Given the description of an element on the screen output the (x, y) to click on. 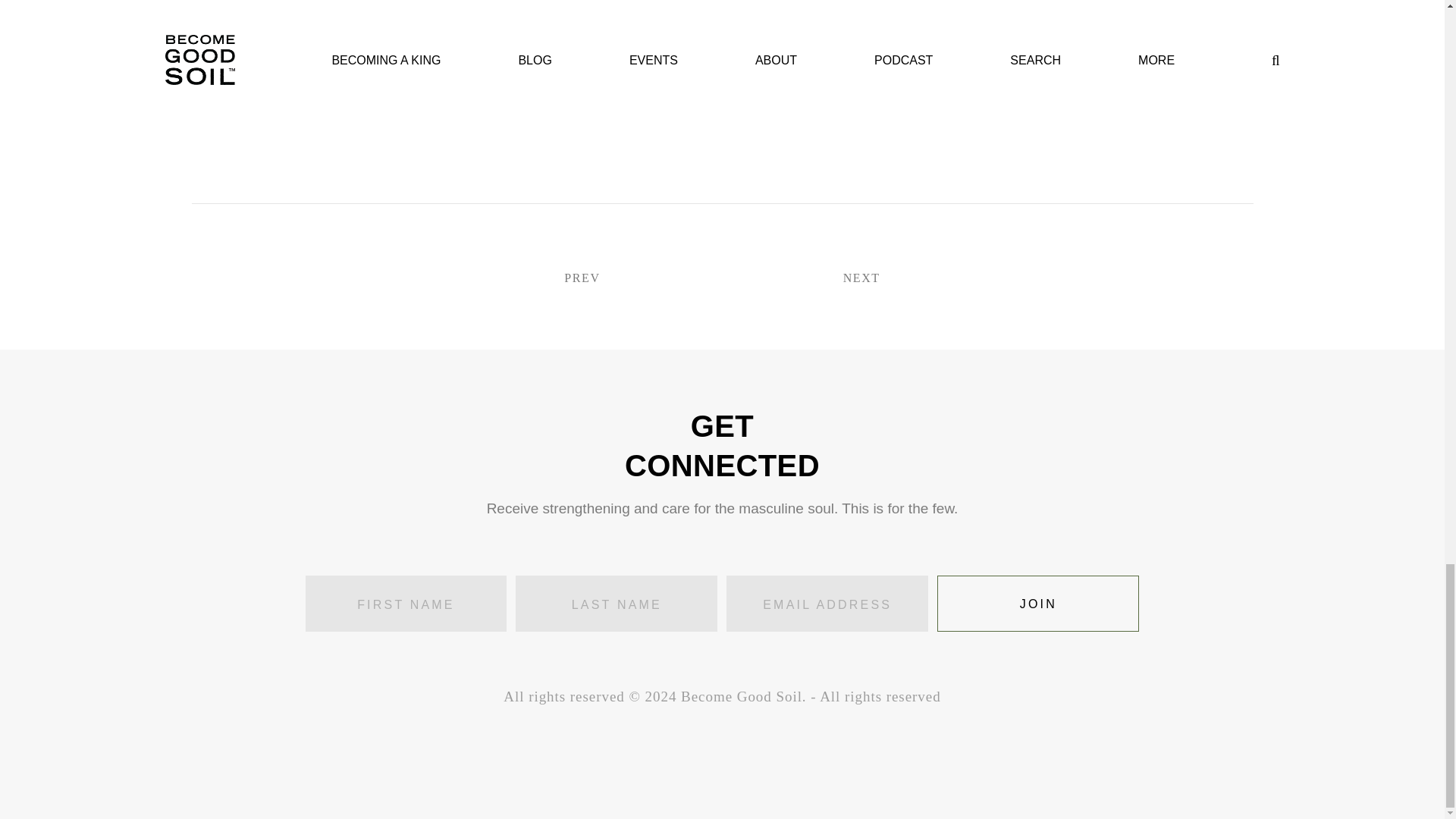
PREV (624, 278)
Buy On Amazon (531, 80)
Join (1037, 603)
Join (1037, 603)
NEXT (818, 278)
